Given the description of an element on the screen output the (x, y) to click on. 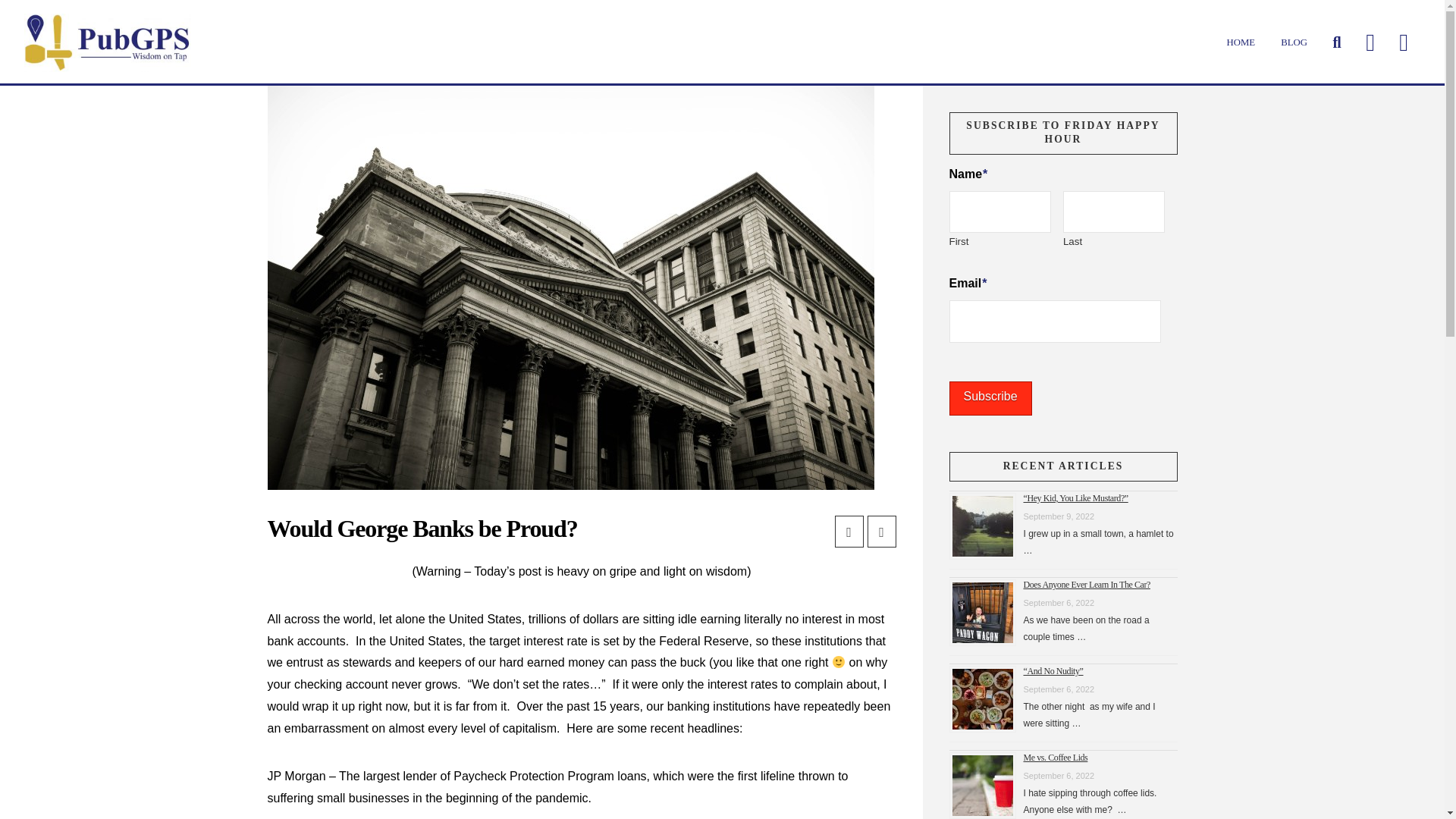
Subscribe (990, 398)
HOME (1240, 42)
Does Anyone Ever Learn In The Car? (1086, 584)
Permalink to Does Anyone Ever Learn In The Car? (1086, 584)
BLOG (1294, 42)
Subscribe (990, 398)
Me vs. Coffee Lids (1055, 757)
Permalink to Me vs. Coffee Lids (1055, 757)
